Given the description of an element on the screen output the (x, y) to click on. 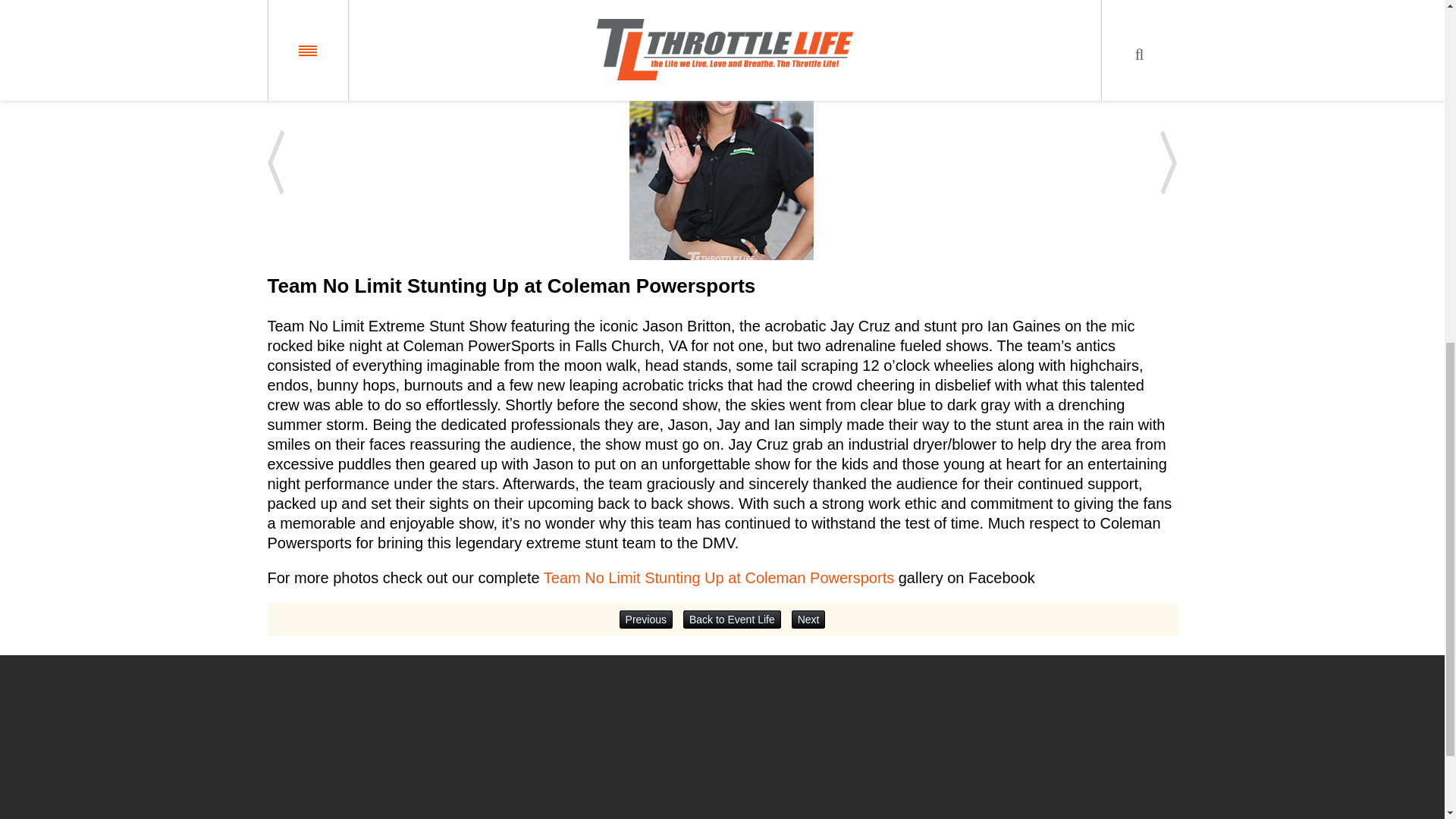
Next (808, 619)
Back to Event Life (731, 619)
Previous (646, 619)
Team No Limit Stunting Up at Coleman Powersports (718, 577)
